Given the description of an element on the screen output the (x, y) to click on. 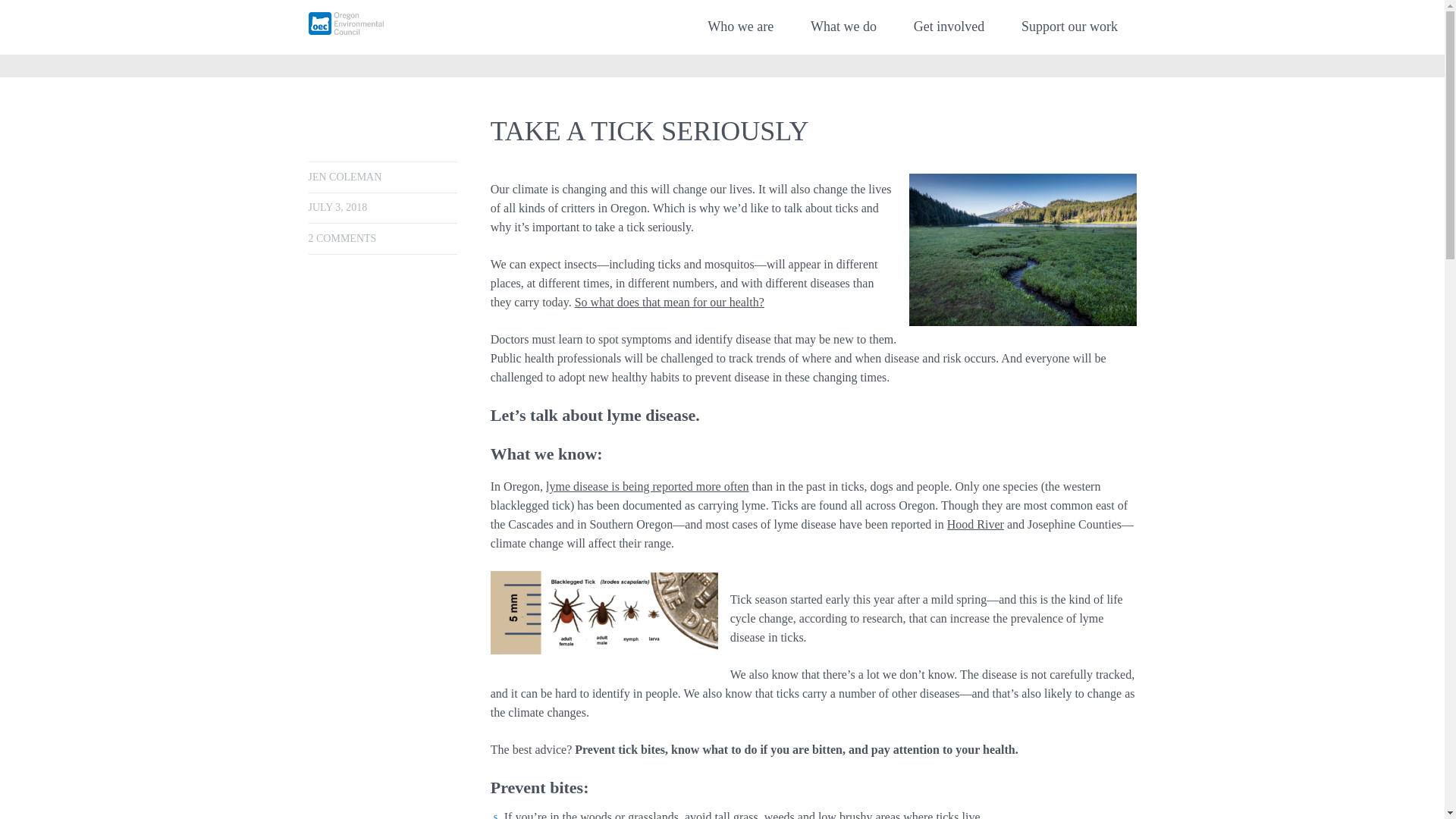
What we do (842, 27)
JEN COLEMAN (344, 176)
So what does that mean for our health? (669, 301)
Who we are (740, 27)
Get involved (948, 27)
lyme disease is being reported more often (647, 486)
Hood River (975, 523)
Posts by Jen Coleman (344, 176)
Support our work (1069, 27)
2 COMMENTS (341, 238)
